Given the description of an element on the screen output the (x, y) to click on. 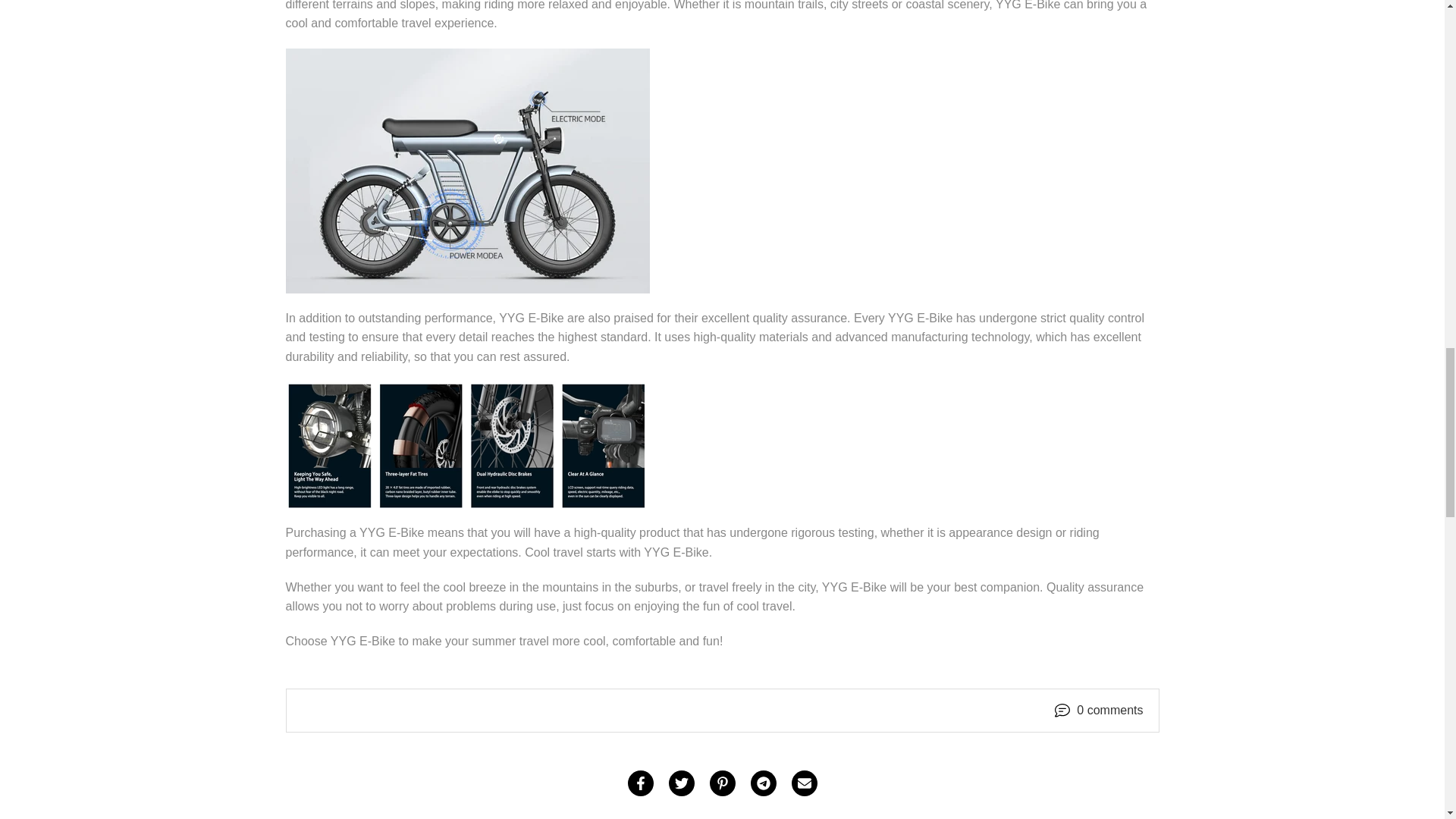
Share on Telegram (763, 783)
0 comments (1109, 710)
Share on Twitter (681, 783)
Share on Facebook (640, 783)
Share on Pinterest (722, 783)
Share on Email (804, 783)
